Given the description of an element on the screen output the (x, y) to click on. 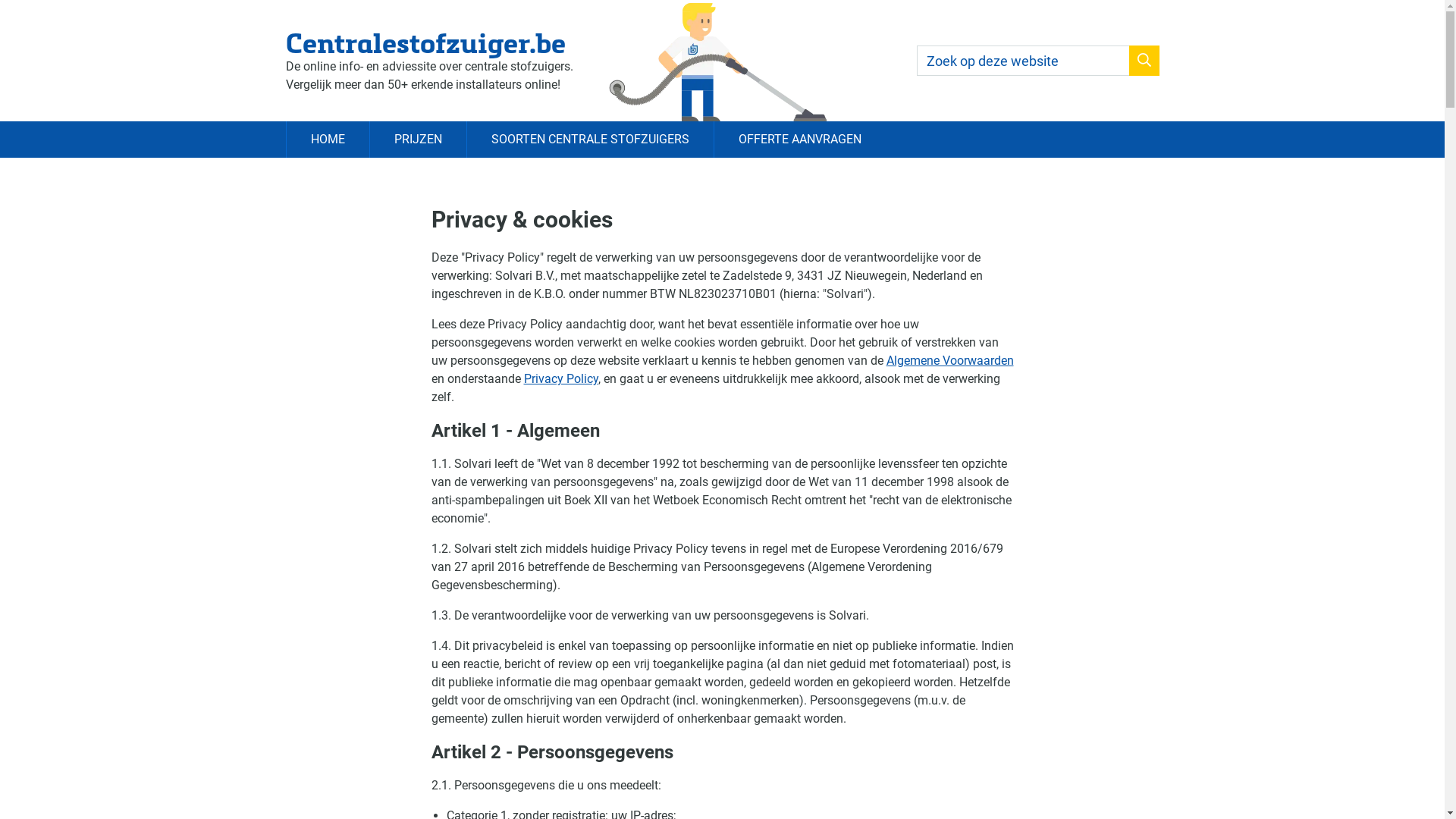
PRIJZEN Element type: text (416, 139)
OFFERTE AANVRAGEN Element type: text (798, 139)
SOORTEN CENTRALE STOFZUIGERS Element type: text (588, 139)
Privacy Policy Element type: text (560, 378)
Algemene Voorwaarden Element type: text (949, 360)
HOME Element type: text (326, 139)
Centralestofzuiger.be Element type: text (428, 42)
